Given the description of an element on the screen output the (x, y) to click on. 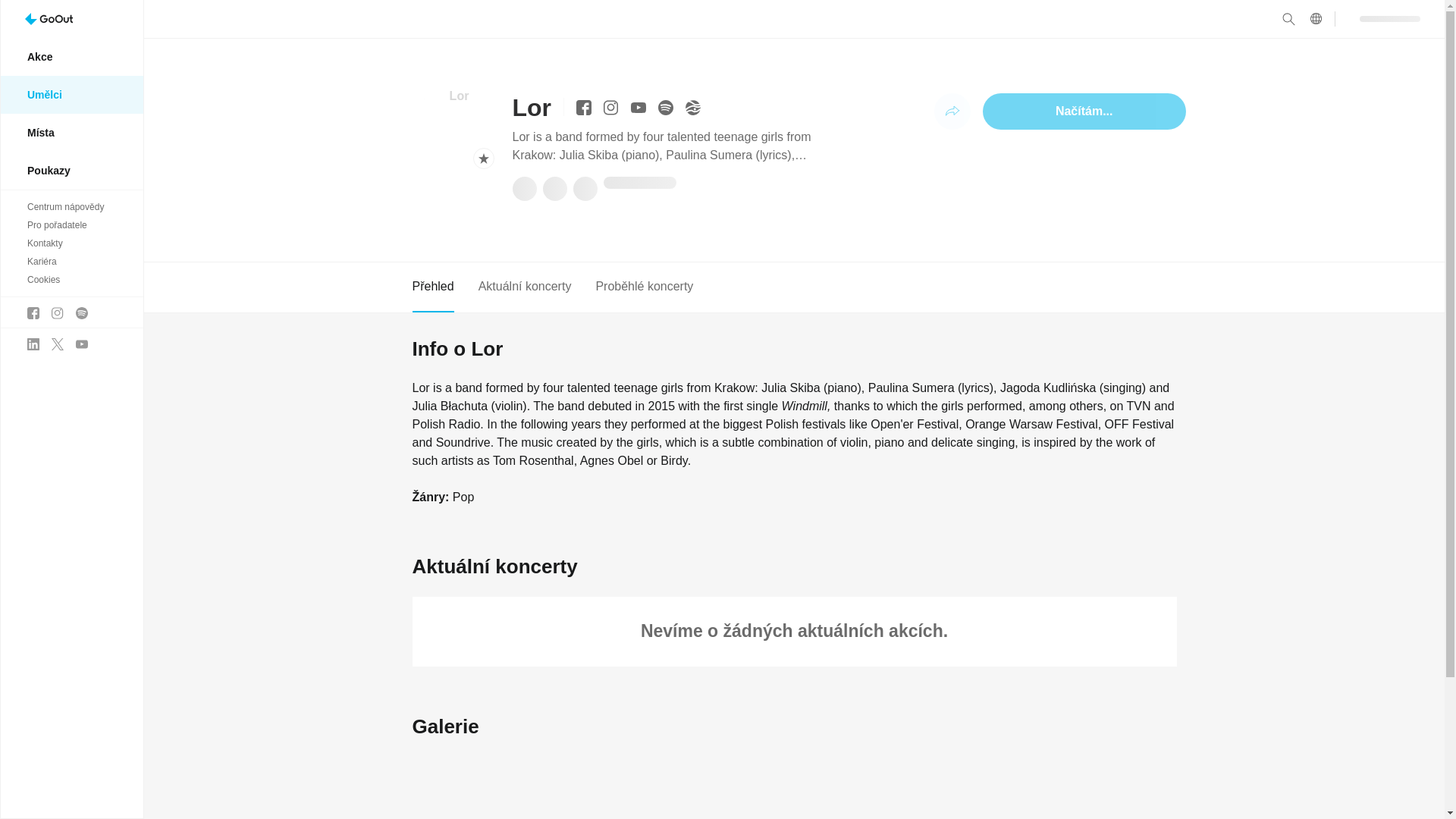
Poukazy (71, 170)
Akce (71, 56)
Kontakty (71, 243)
Pop (463, 496)
